Given the description of an element on the screen output the (x, y) to click on. 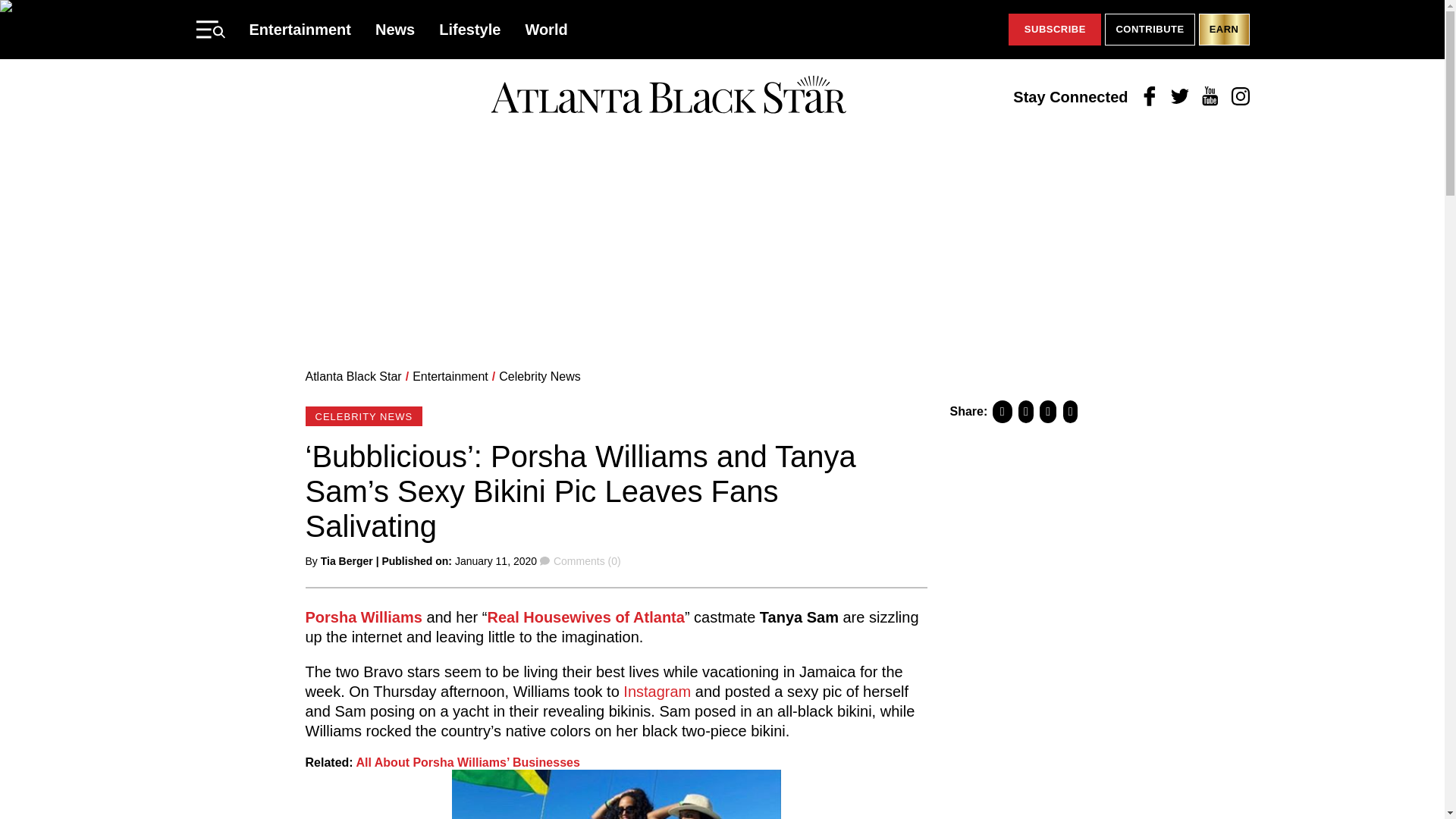
Lifestyle (469, 29)
Go to Atlanta Black Star. (352, 376)
Go to the Celebrity News Category archives. (539, 376)
Go to the Entertainment Category archives. (449, 376)
Entertainment (299, 29)
World (545, 29)
SUBSCRIBE (1054, 29)
News (394, 29)
Atlanta Black Star (667, 96)
CONTRIBUTE (1149, 29)
